Given the description of an element on the screen output the (x, y) to click on. 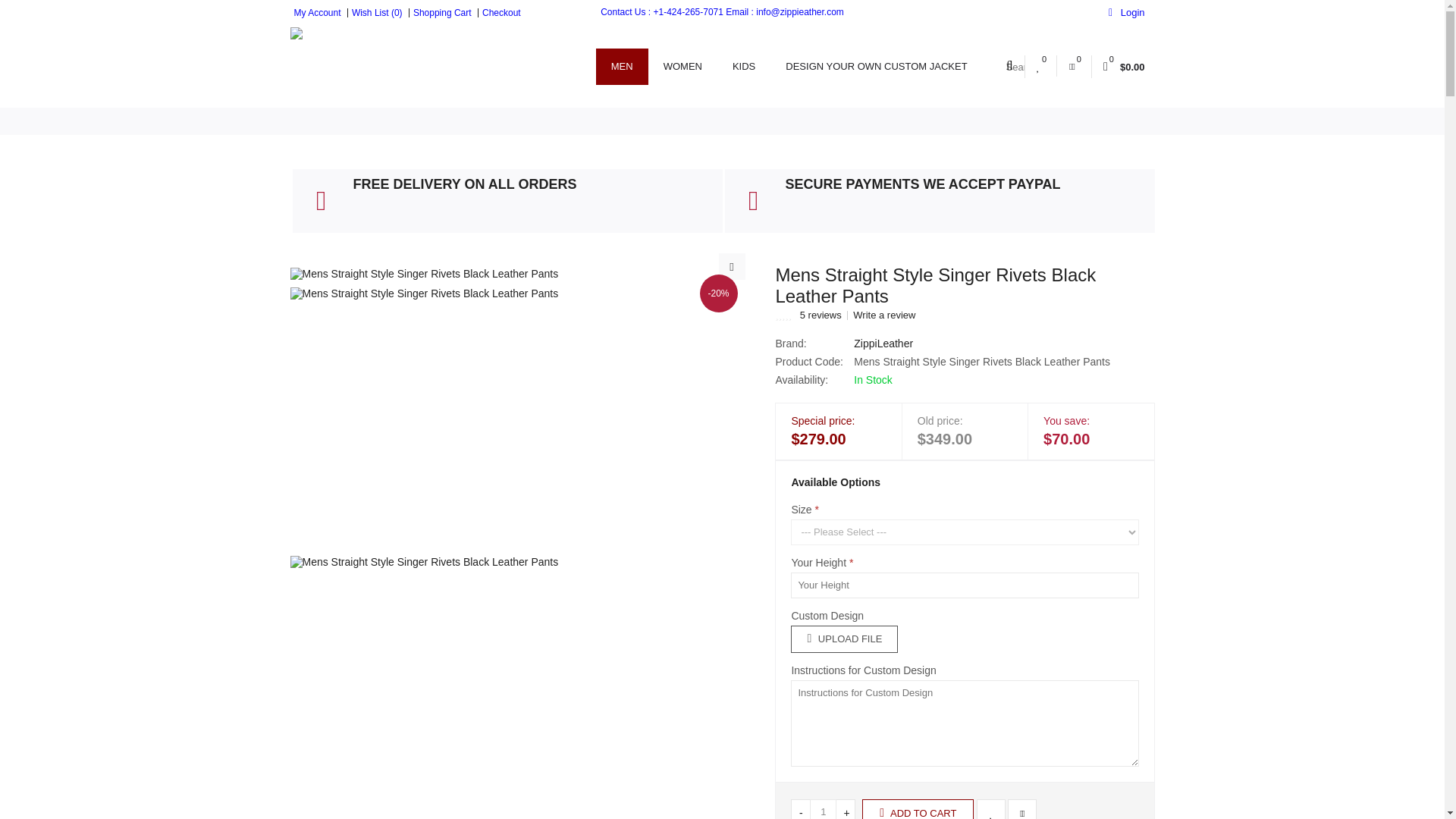
Mens Straight Style Singer Rivets Black Leather Pants (423, 273)
My Account (314, 12)
Shopping Cart (440, 12)
Mens Straight Style Singer Rivets Black Leather Pants (732, 266)
Mens Straight Style Singer Rivets Black Leather Pants (423, 272)
Checkout (499, 12)
Login (1126, 12)
1 (822, 809)
0 (1073, 66)
Mens Straight Style Singer Rivets Black Leather Pants (423, 687)
Login (1057, 171)
MEN (621, 66)
Mens Straight Style Singer Rivets Black Leather Pants (423, 421)
0 (1041, 66)
